Given the description of an element on the screen output the (x, y) to click on. 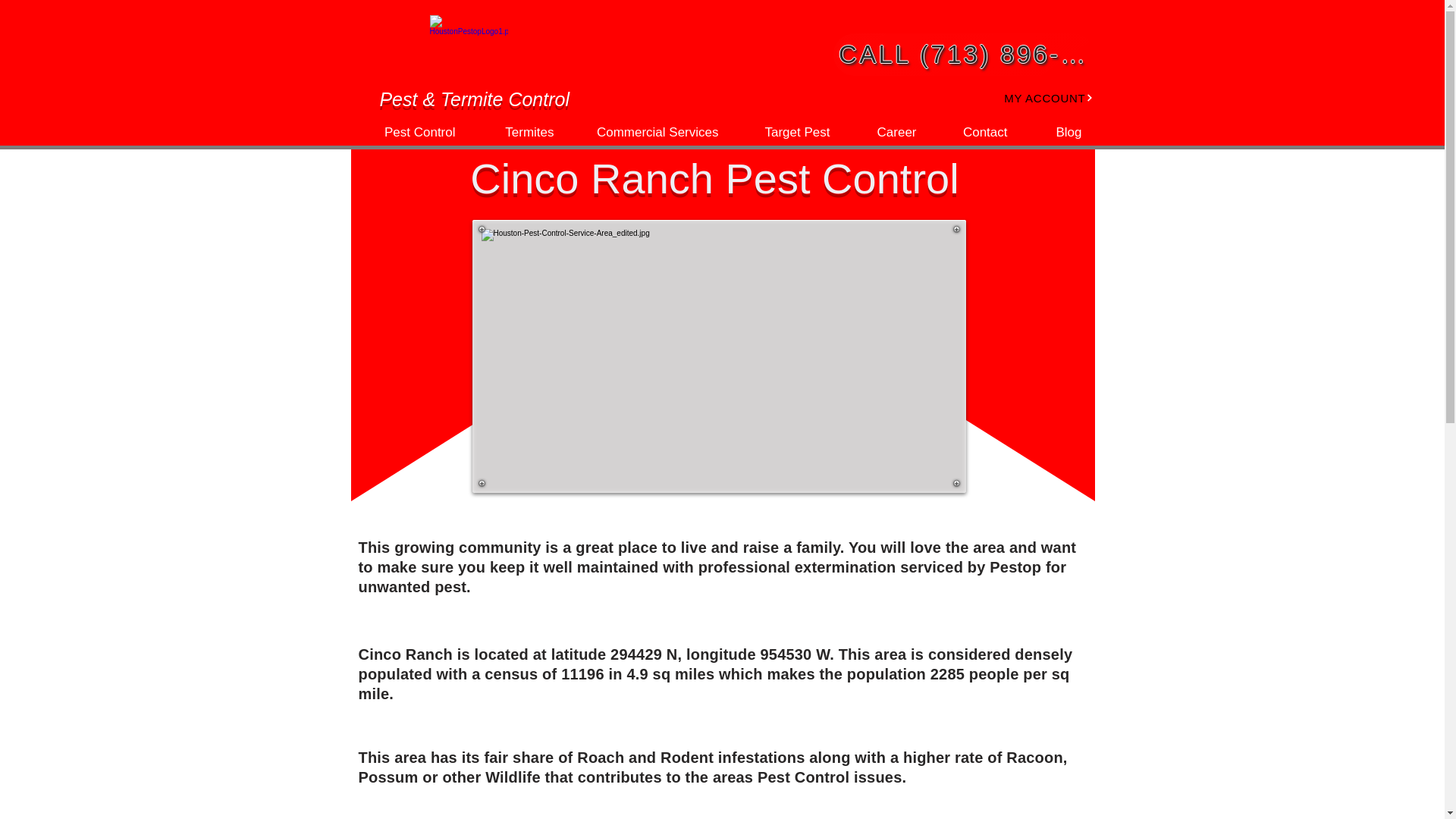
Contact (973, 131)
MY ACCOUNT (1033, 97)
Blog (1056, 131)
Commercial Services (648, 131)
Termites (516, 131)
Target Pest (785, 131)
Pest Control (407, 131)
Career (884, 131)
